Given the description of an element on the screen output the (x, y) to click on. 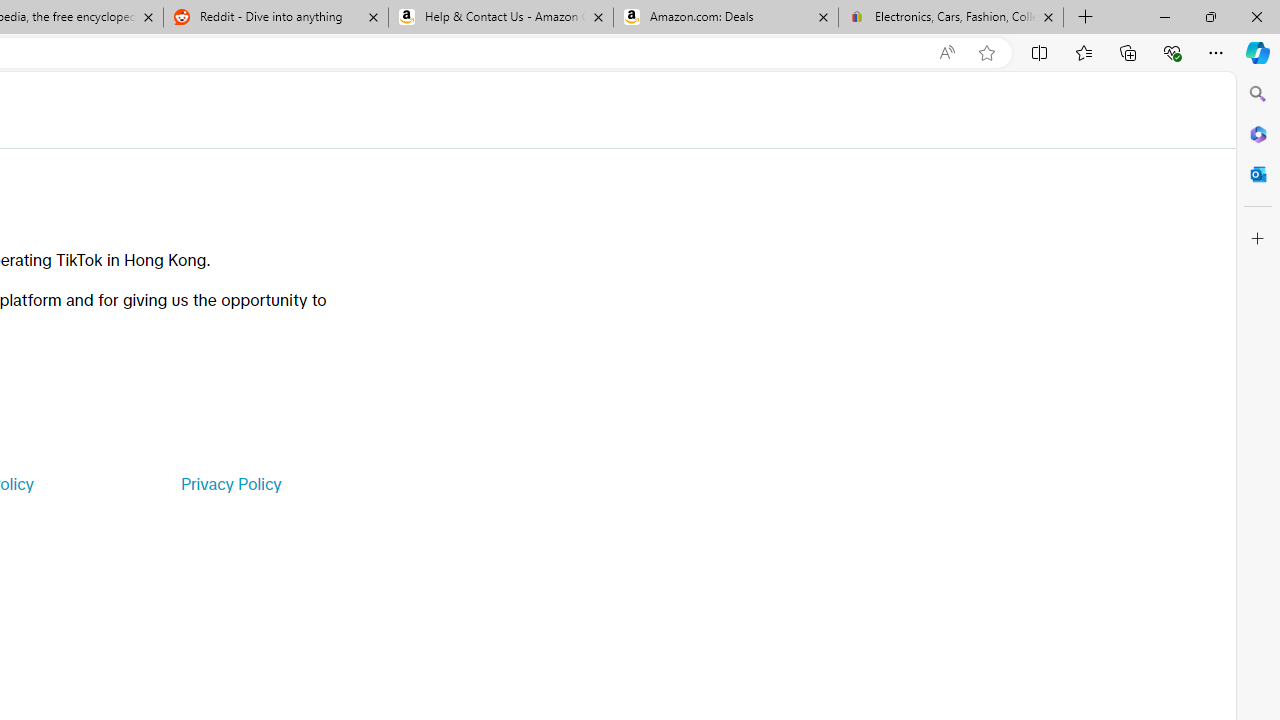
Amazon.com: Deals (726, 17)
Privacy Policy (230, 484)
